Given the description of an element on the screen output the (x, y) to click on. 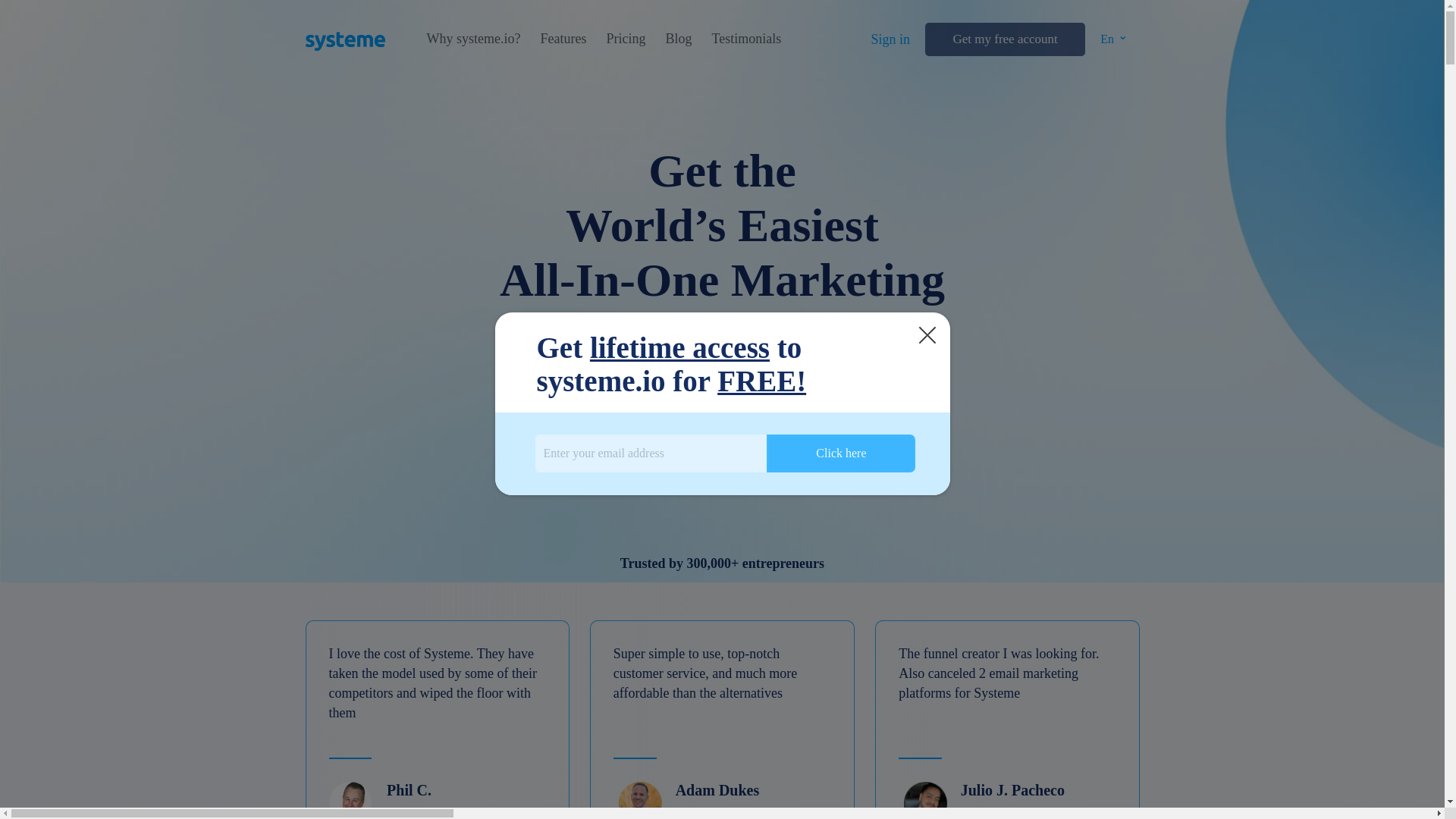
Get my free account (1004, 39)
Pricing (625, 38)
Blog (678, 38)
Features (563, 38)
Sign in (890, 39)
Why systeme.io? (472, 38)
Testimonials (745, 38)
